Given the description of an element on the screen output the (x, y) to click on. 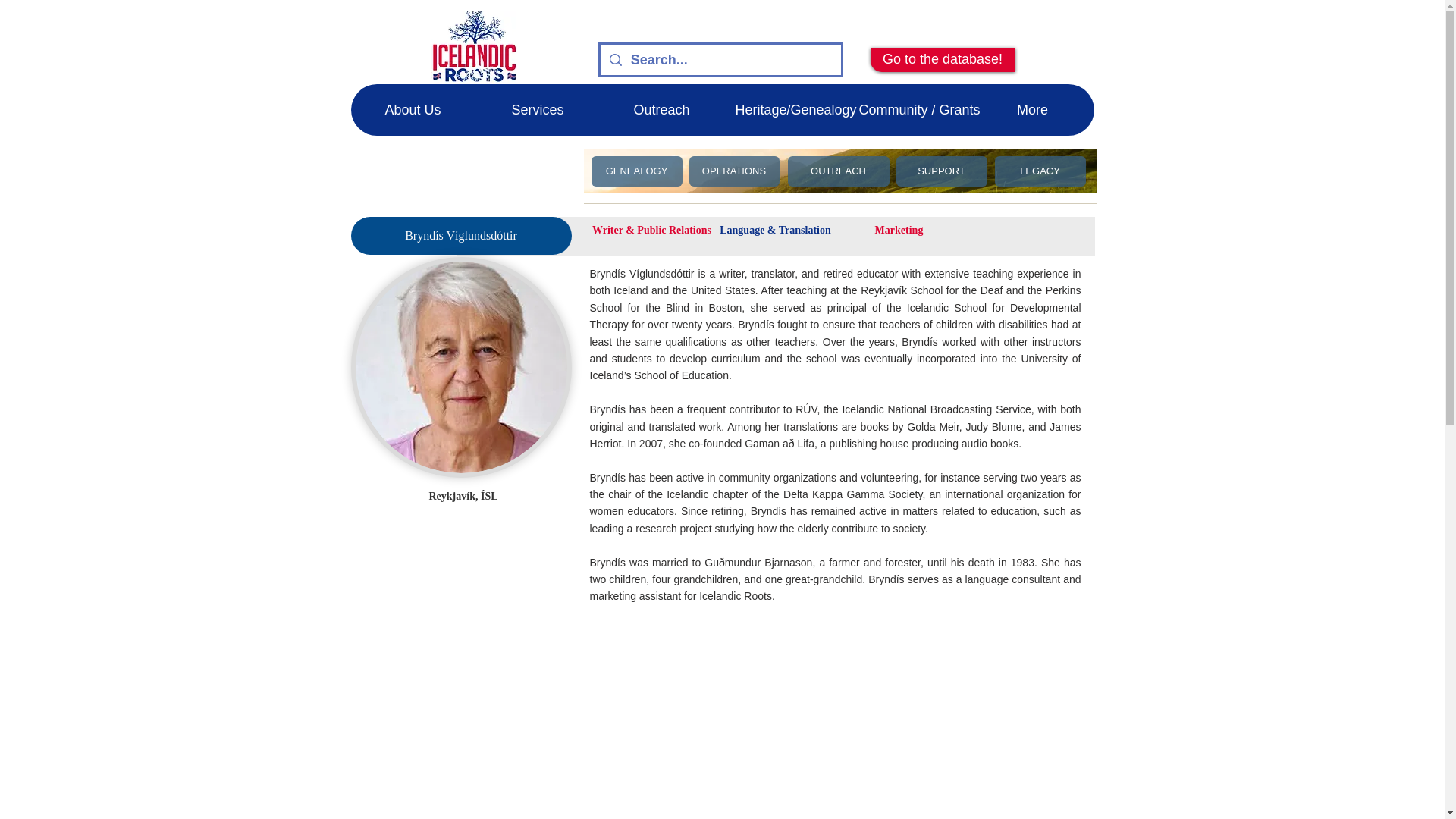
Go to the database! (942, 59)
Bryndis.jpg (460, 367)
More (1032, 109)
